Given the description of an element on the screen output the (x, y) to click on. 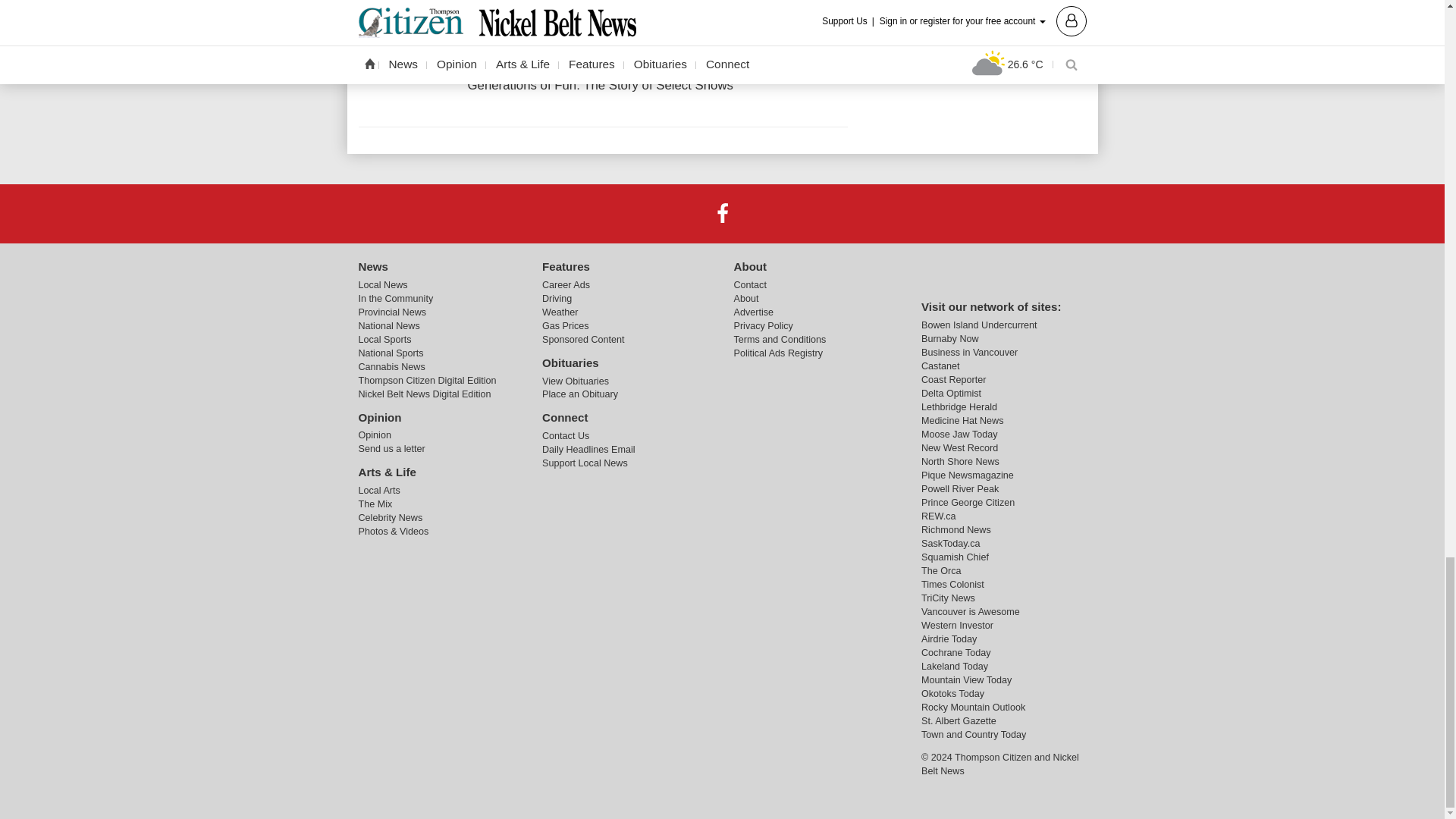
Facebook (721, 213)
